Given the description of an element on the screen output the (x, y) to click on. 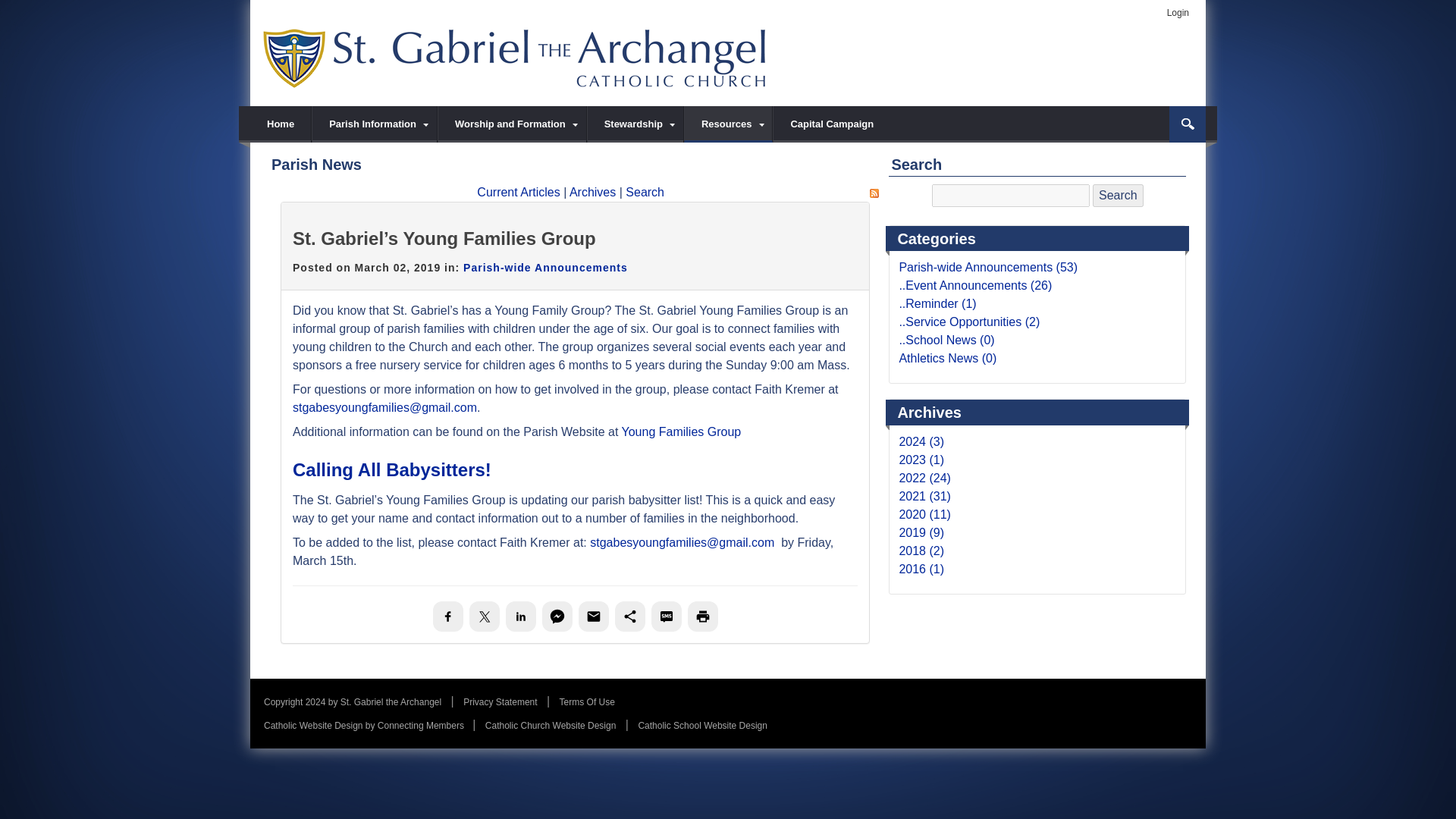
Search (1117, 195)
Home (280, 124)
Capital Campaign (831, 124)
Parish Information (374, 124)
Worship and Formation (512, 124)
Resources (728, 124)
Login (1178, 12)
St. Gabriel the Archangel (516, 56)
Stewardship (635, 124)
Search (1187, 124)
Login (1178, 12)
